Given the description of an element on the screen output the (x, y) to click on. 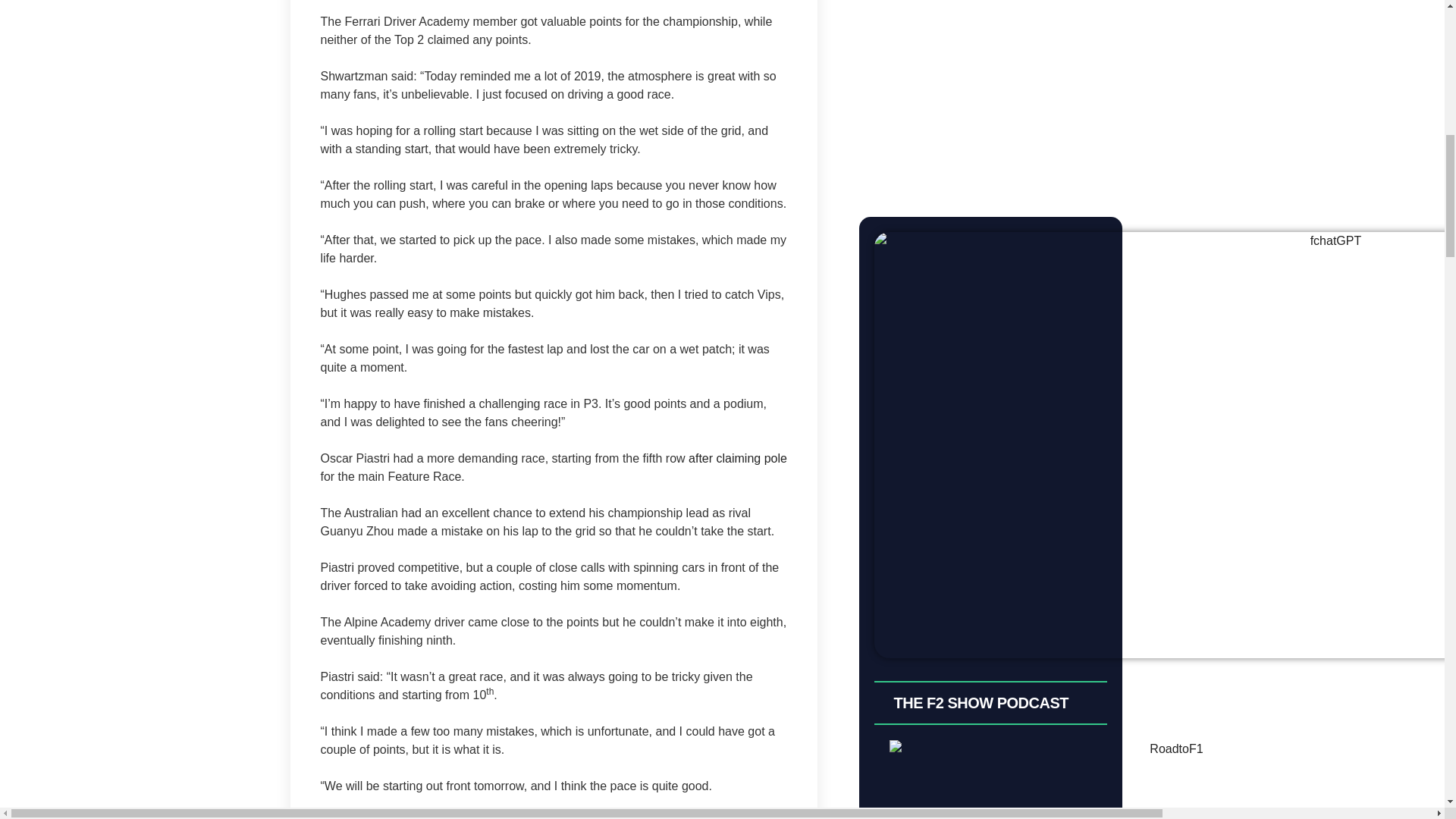
after claiming pole (737, 458)
